Given the description of an element on the screen output the (x, y) to click on. 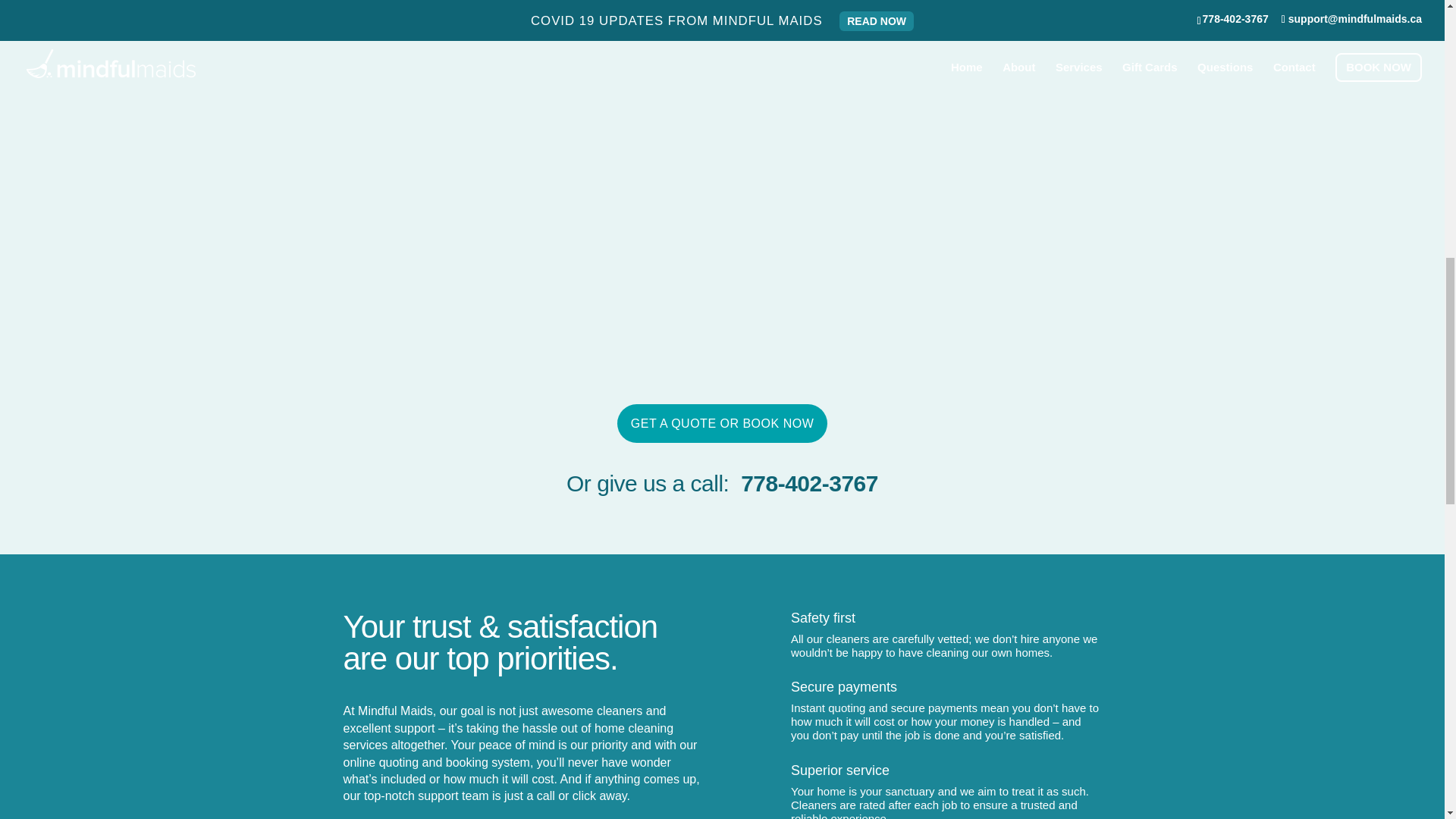
GET A QUOTE OR BOOK NOW (722, 423)
